Given the description of an element on the screen output the (x, y) to click on. 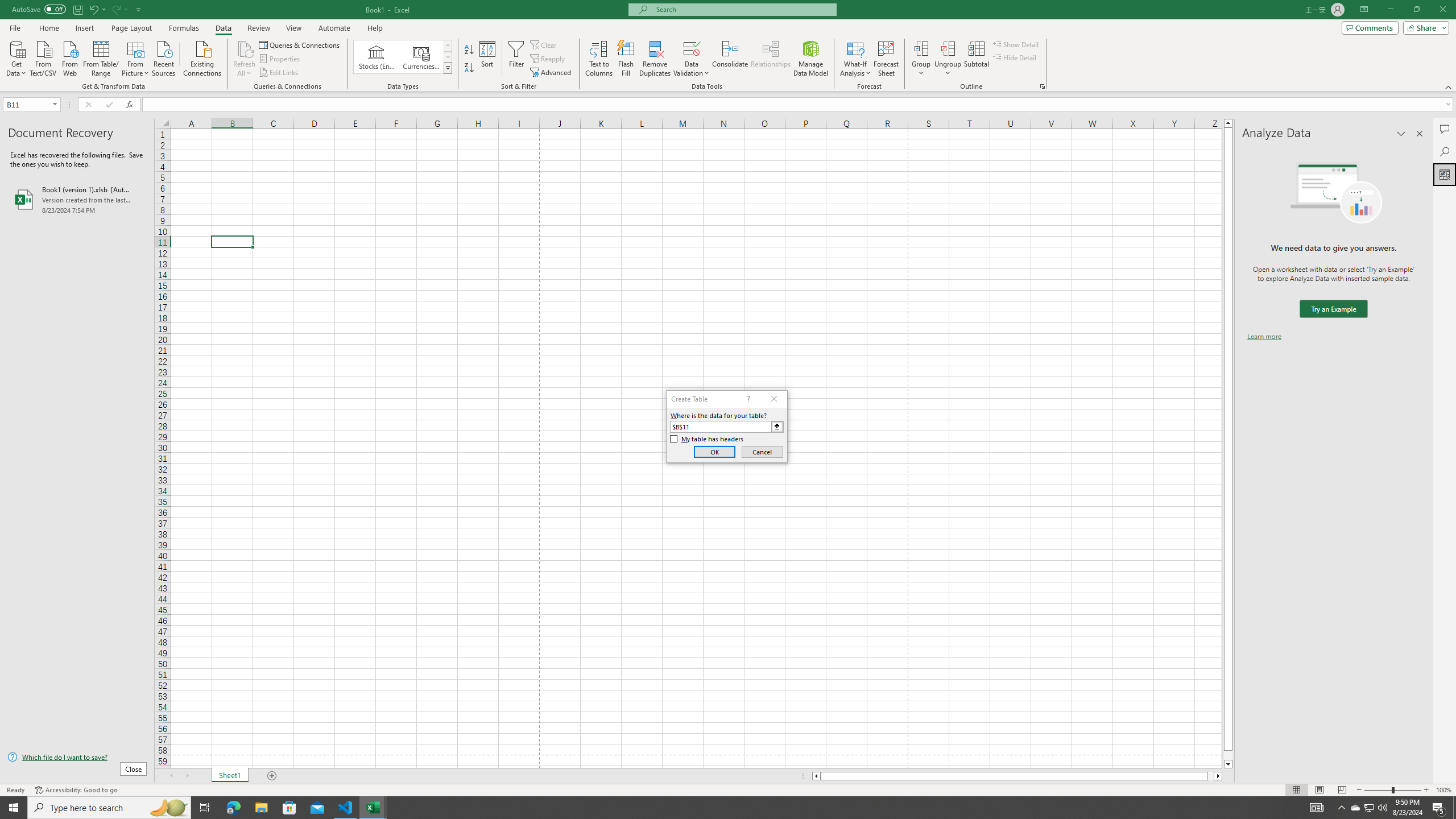
Collapse the Ribbon (1448, 86)
Edit Links (279, 72)
Formulas (184, 28)
